Given the description of an element on the screen output the (x, y) to click on. 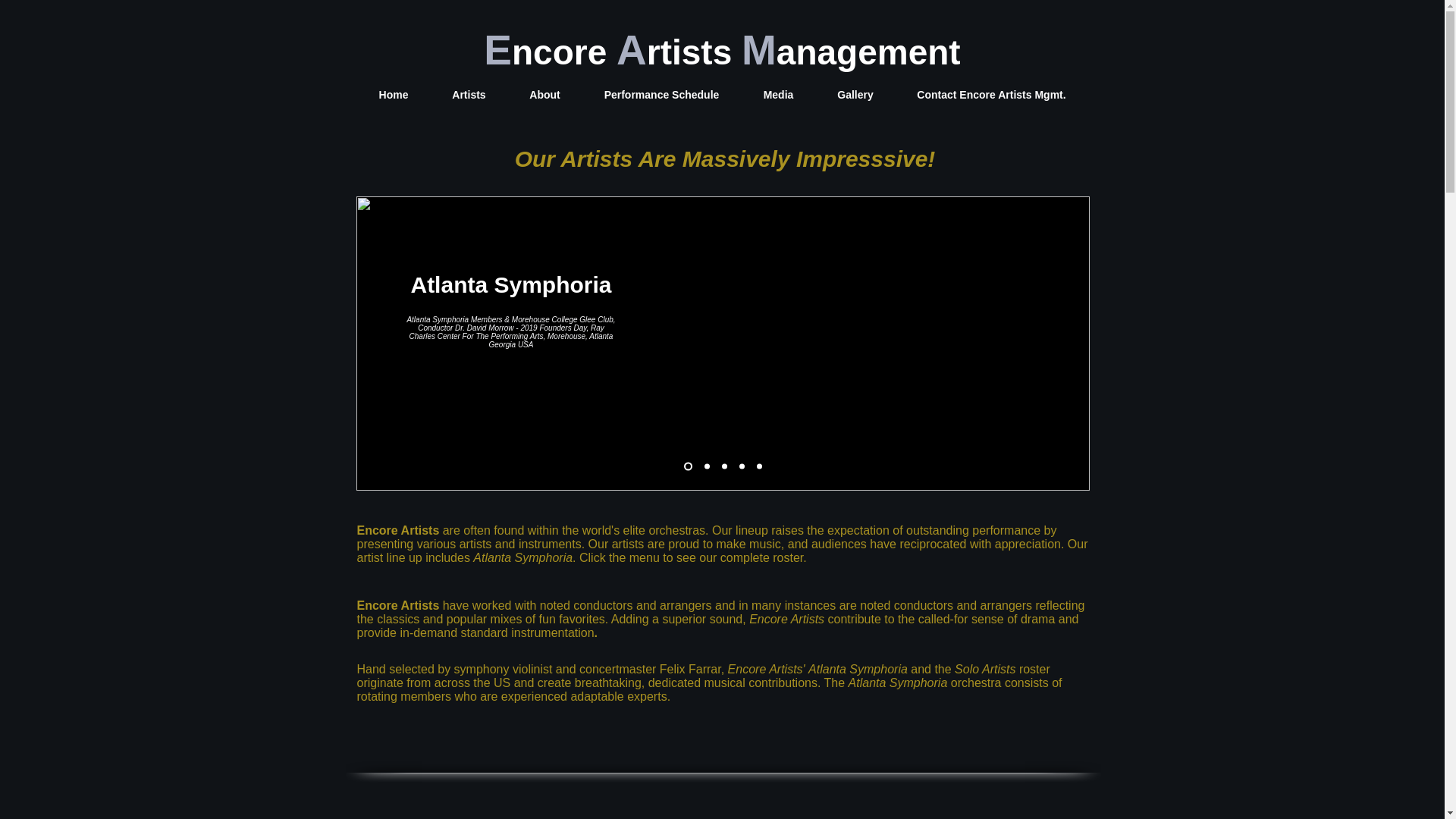
Gallery (855, 93)
Media (778, 93)
About (545, 93)
rtists (689, 52)
anagement (868, 52)
E (497, 49)
A (630, 49)
Artists (469, 93)
Contact Encore Artists Mgmt. (991, 93)
M (758, 49)
Performance Schedule (661, 93)
Home (392, 93)
ncore (559, 52)
